Given the description of an element on the screen output the (x, y) to click on. 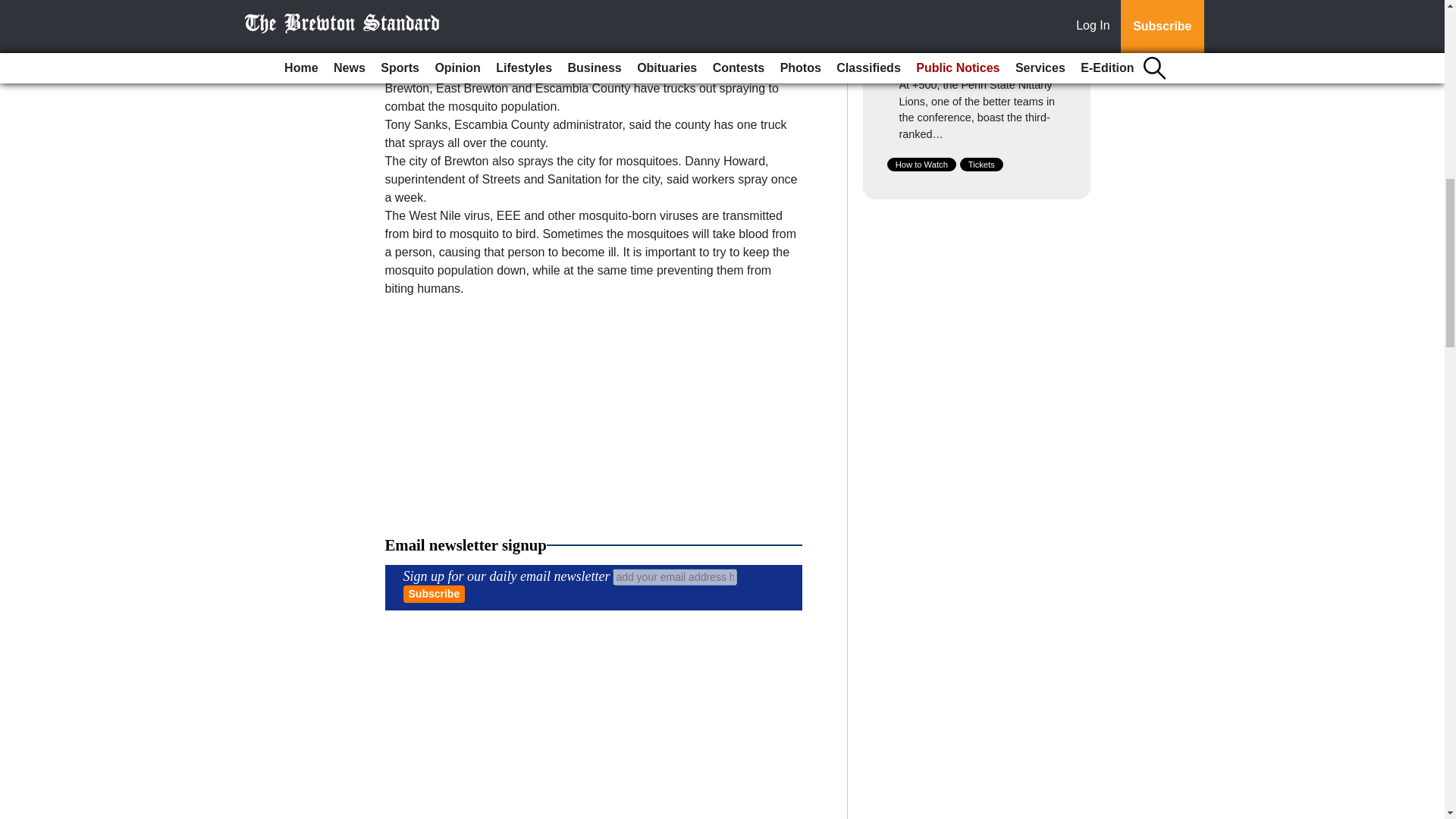
Subscribe (434, 593)
Subscribe (434, 593)
